Given the description of an element on the screen output the (x, y) to click on. 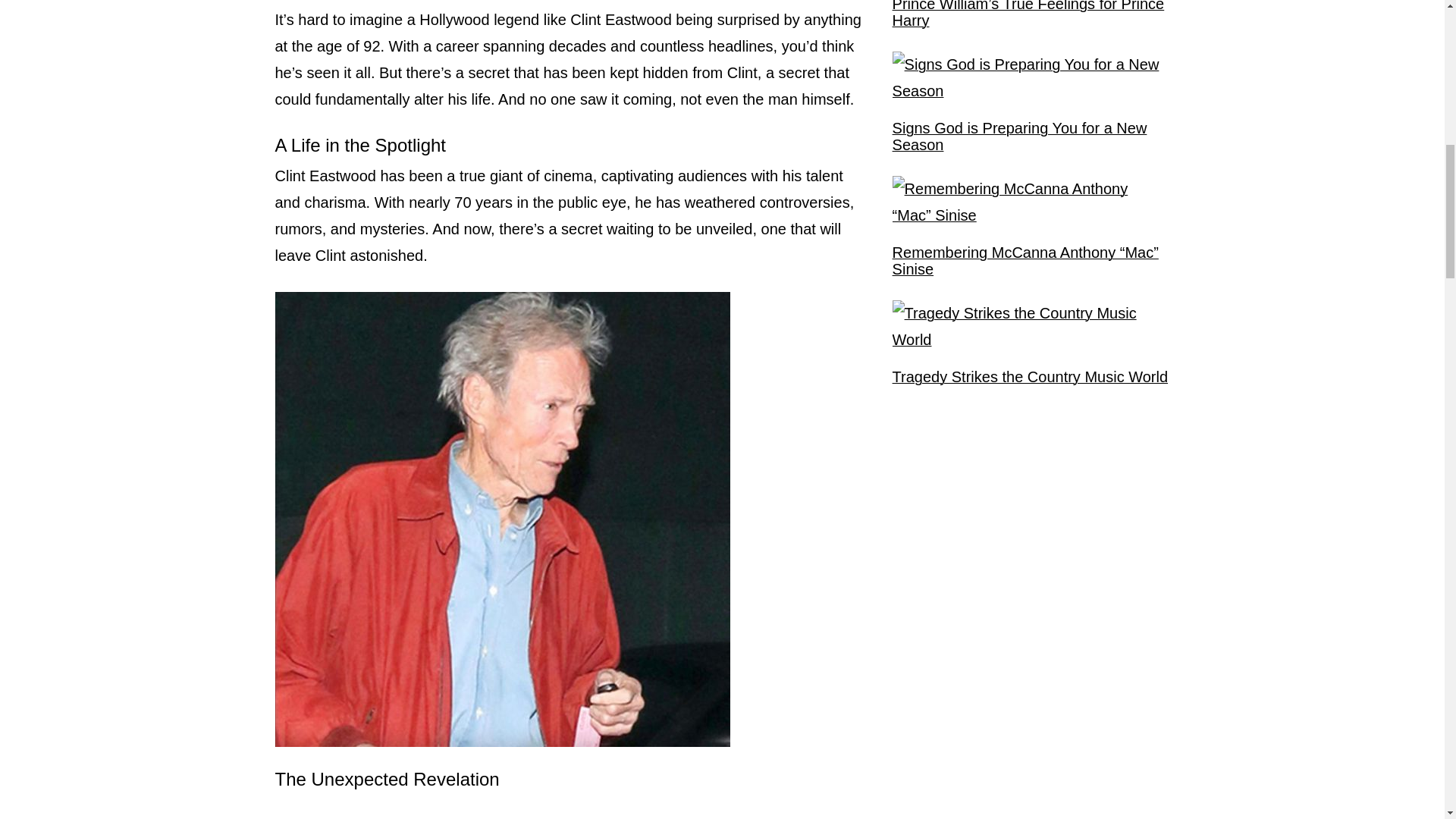
Signs God is Preparing You for a New Season (1031, 136)
Tragedy Strikes the Country Music World (1029, 376)
